Given the description of an element on the screen output the (x, y) to click on. 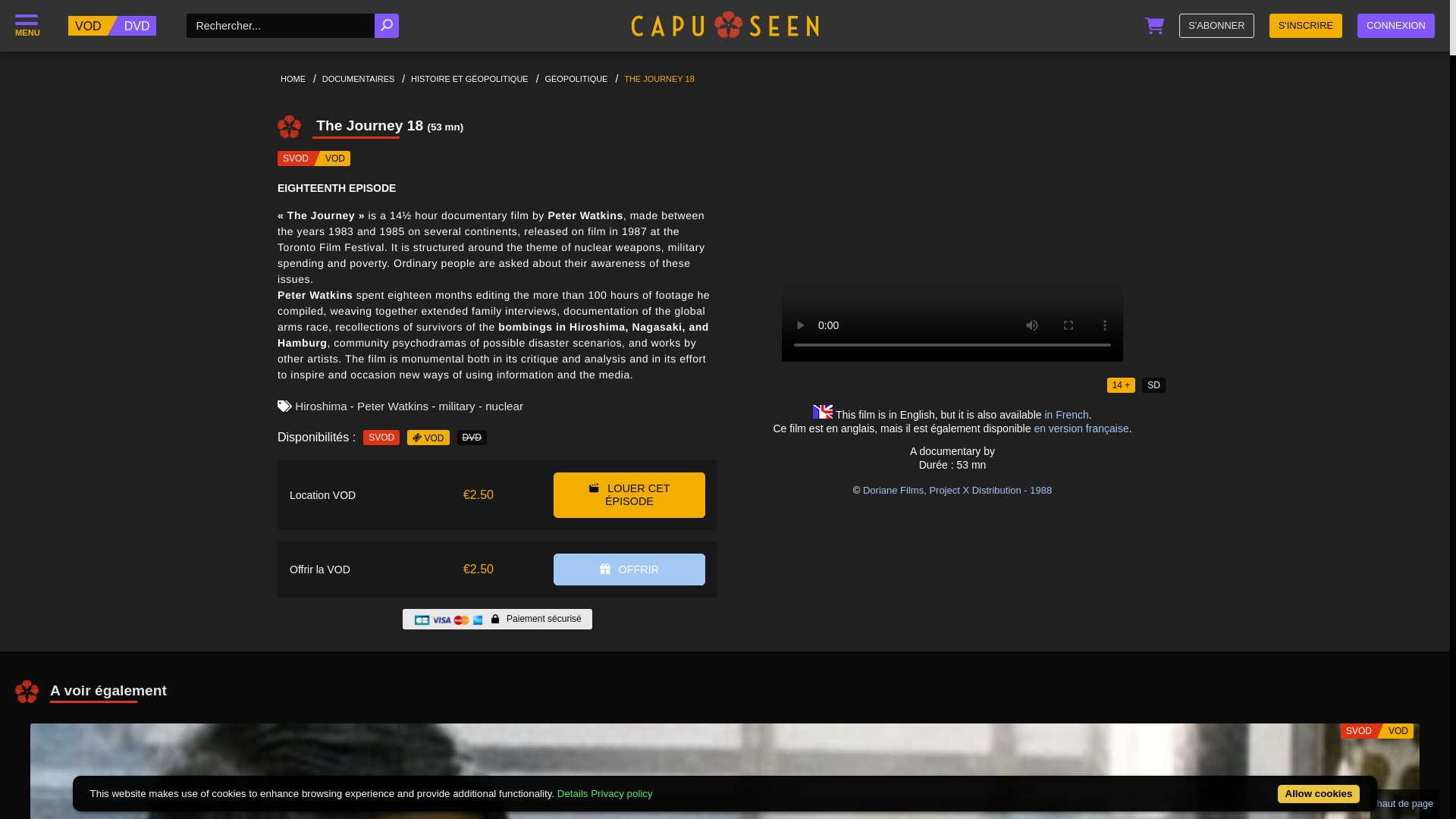
VOD (87, 25)
CONNEXION (1395, 25)
DVD (137, 25)
S'ABONNER (1216, 25)
S'INSCRIRE (1305, 25)
Rechercher (386, 25)
